Given the description of an element on the screen output the (x, y) to click on. 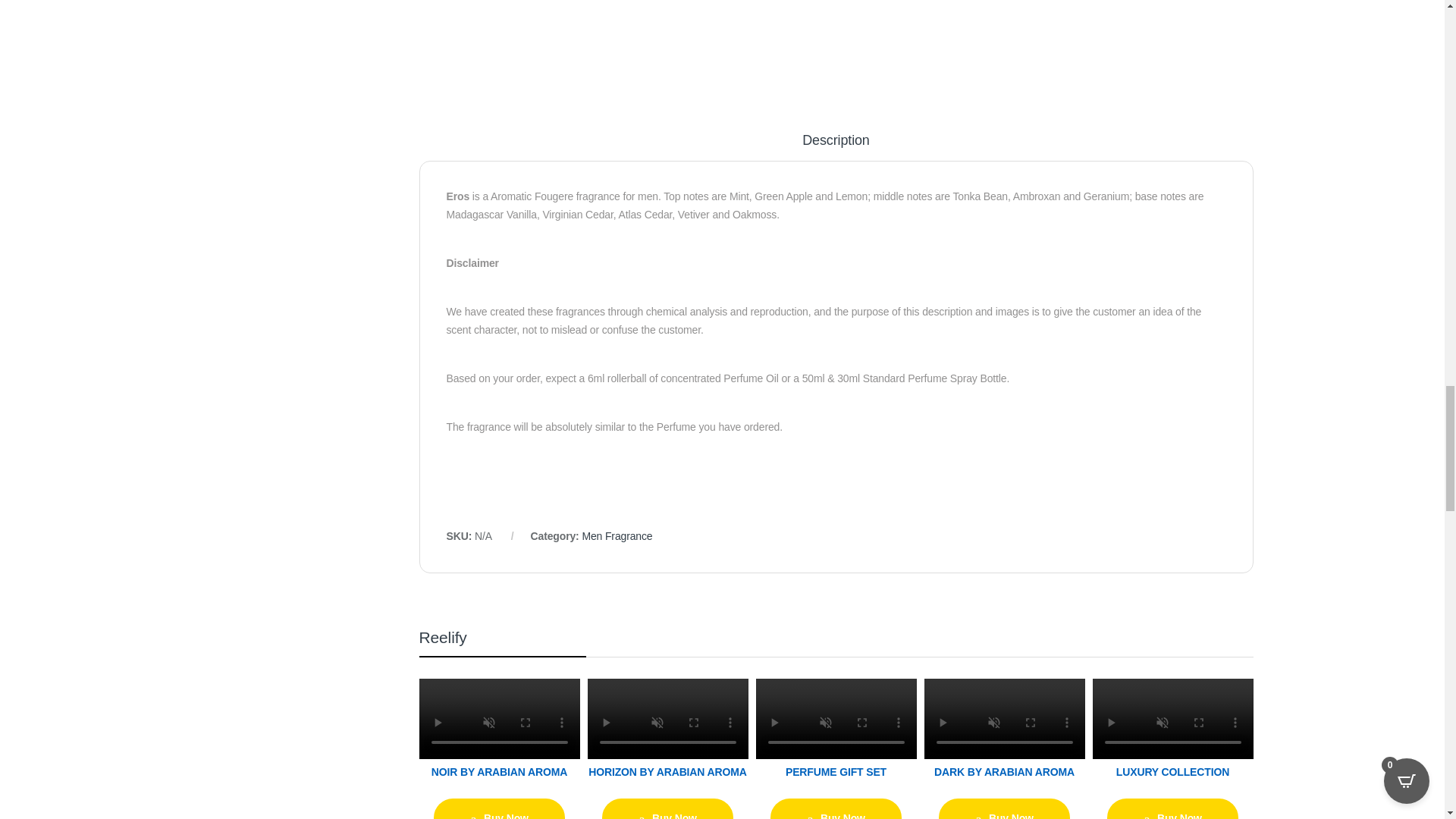
Men Fragrance (616, 535)
Buy Now (835, 808)
HORIZON BY ARABIAN AROMA (667, 791)
DARK BY ARABIAN AROMA (1003, 791)
Description (835, 146)
NOIR BY ARABIAN AROMA (499, 791)
Buy Now (667, 808)
PERFUME GIFT SET (835, 791)
Buy Now (498, 808)
